Given the description of an element on the screen output the (x, y) to click on. 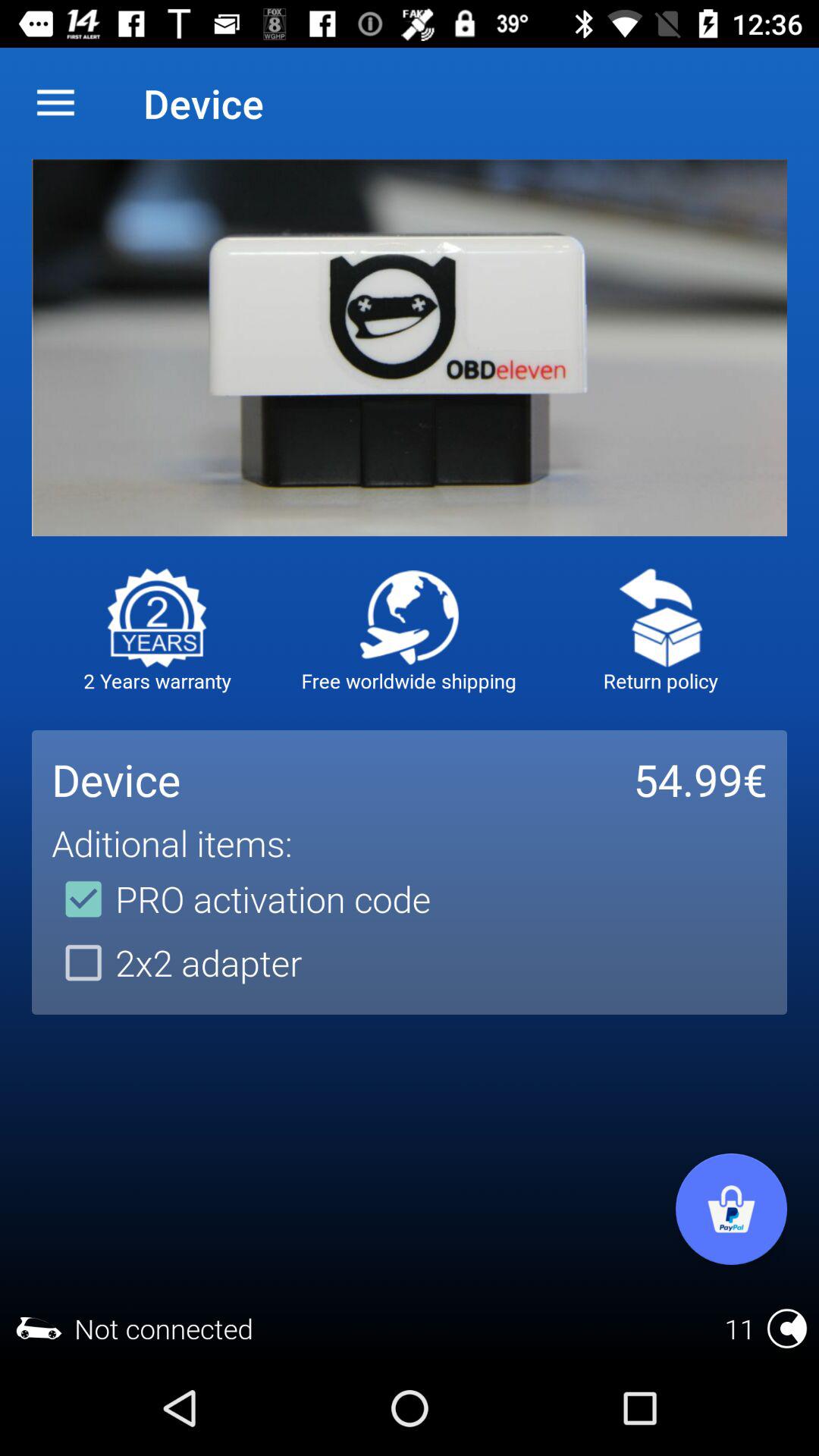
click here to check return policy of the product you are buying (660, 617)
